Given the description of an element on the screen output the (x, y) to click on. 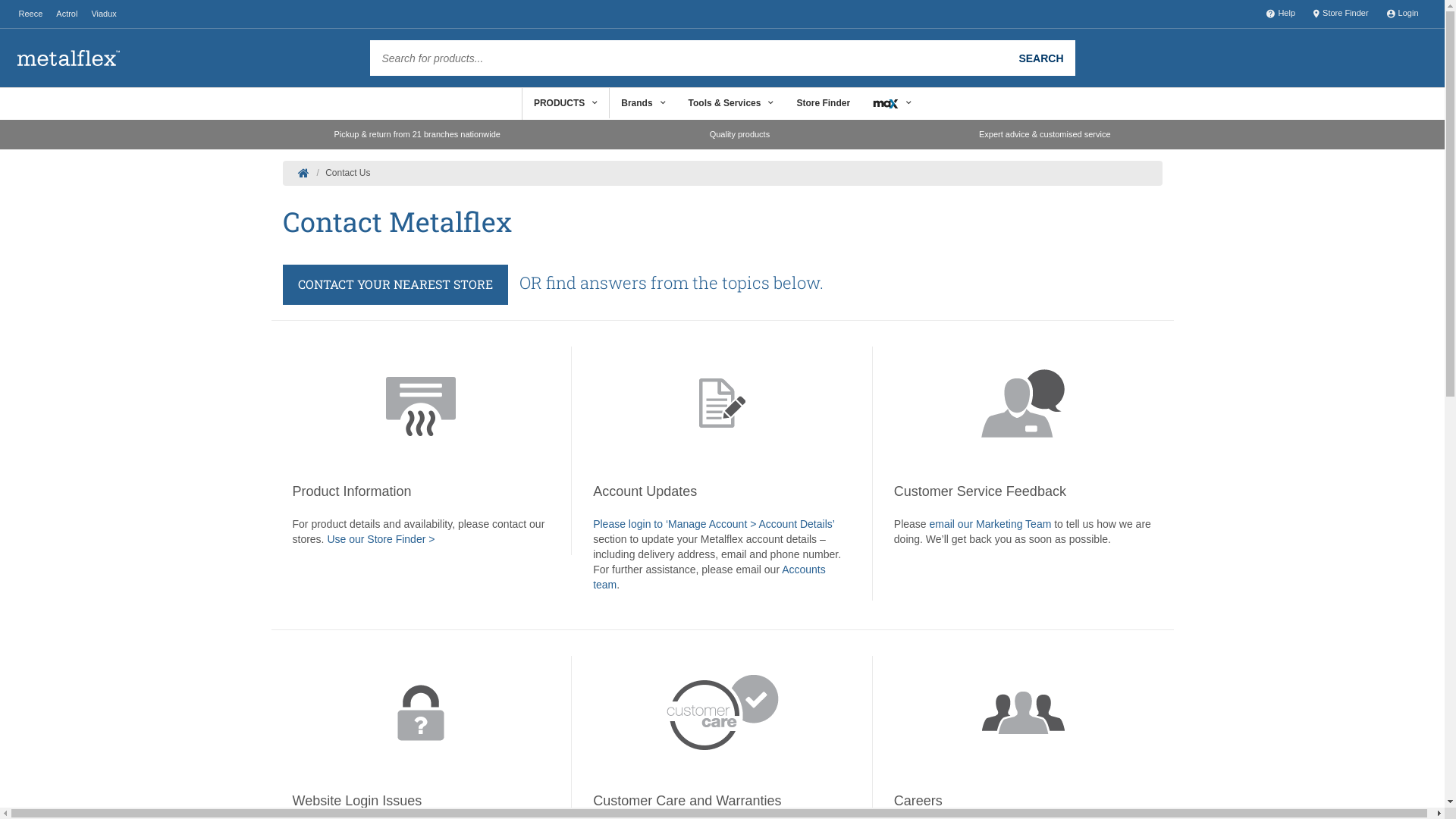
PRODUCTS Element type: text (565, 102)
Reece Element type: text (29, 14)
Accounts team Element type: text (709, 576)
Use our Store Finder > Element type: text (380, 539)
SEARCH Element type: text (1040, 57)
Help Element type: text (1280, 14)
Actrol Element type: text (66, 14)
Login Element type: text (1402, 14)
email our Marketing Team Element type: text (990, 523)
CONTACT YOUR NEAREST STORE Element type: text (394, 284)
Store Finder Element type: text (1340, 14)
Tools & Services Element type: text (731, 102)
Store Finder Element type: text (822, 102)
Viadux Element type: text (103, 14)
Brands Element type: text (642, 102)
